Given the description of an element on the screen output the (x, y) to click on. 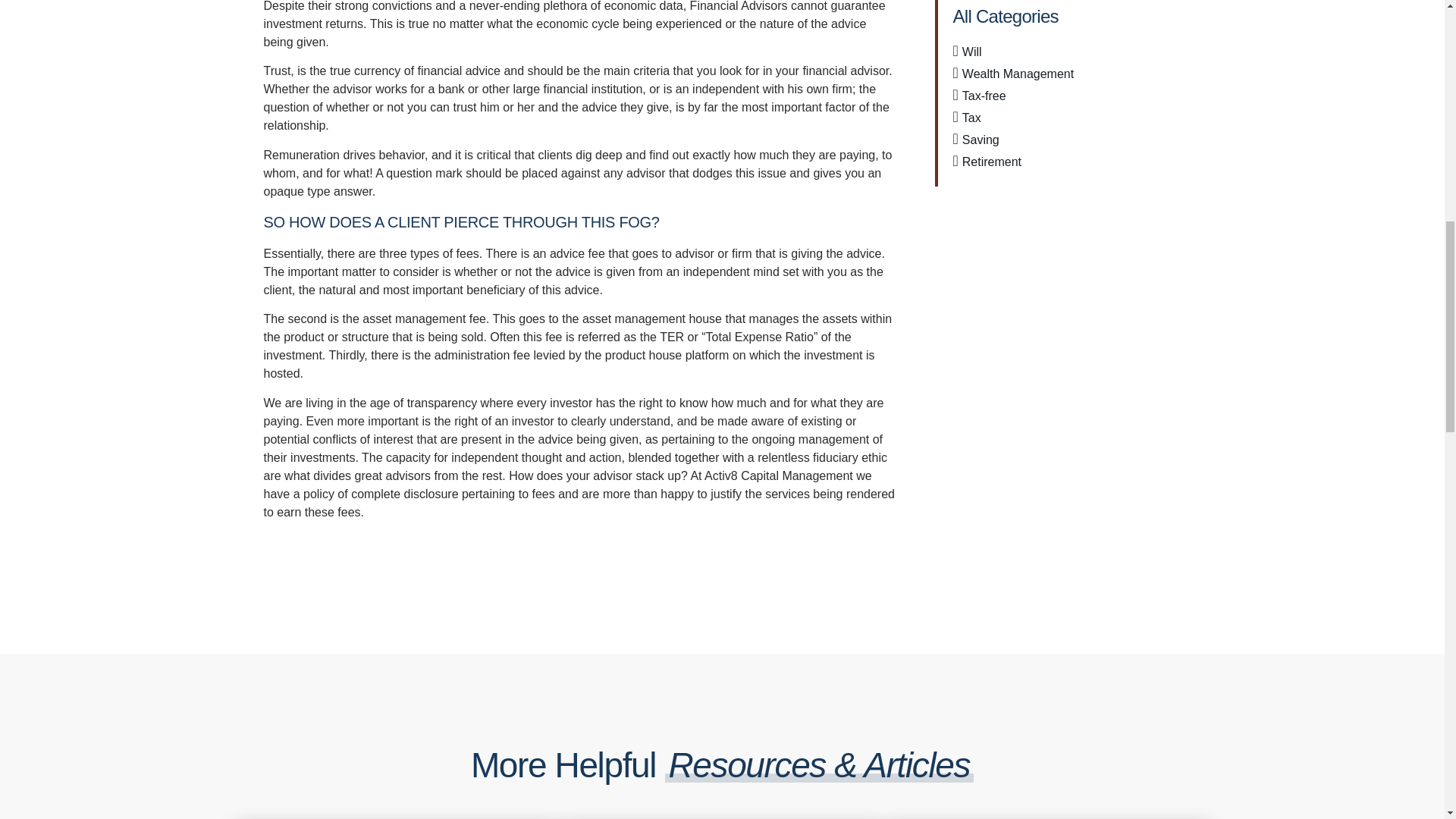
Will (966, 52)
Wealth Management (1013, 74)
Tax-free (979, 95)
